Given the description of an element on the screen output the (x, y) to click on. 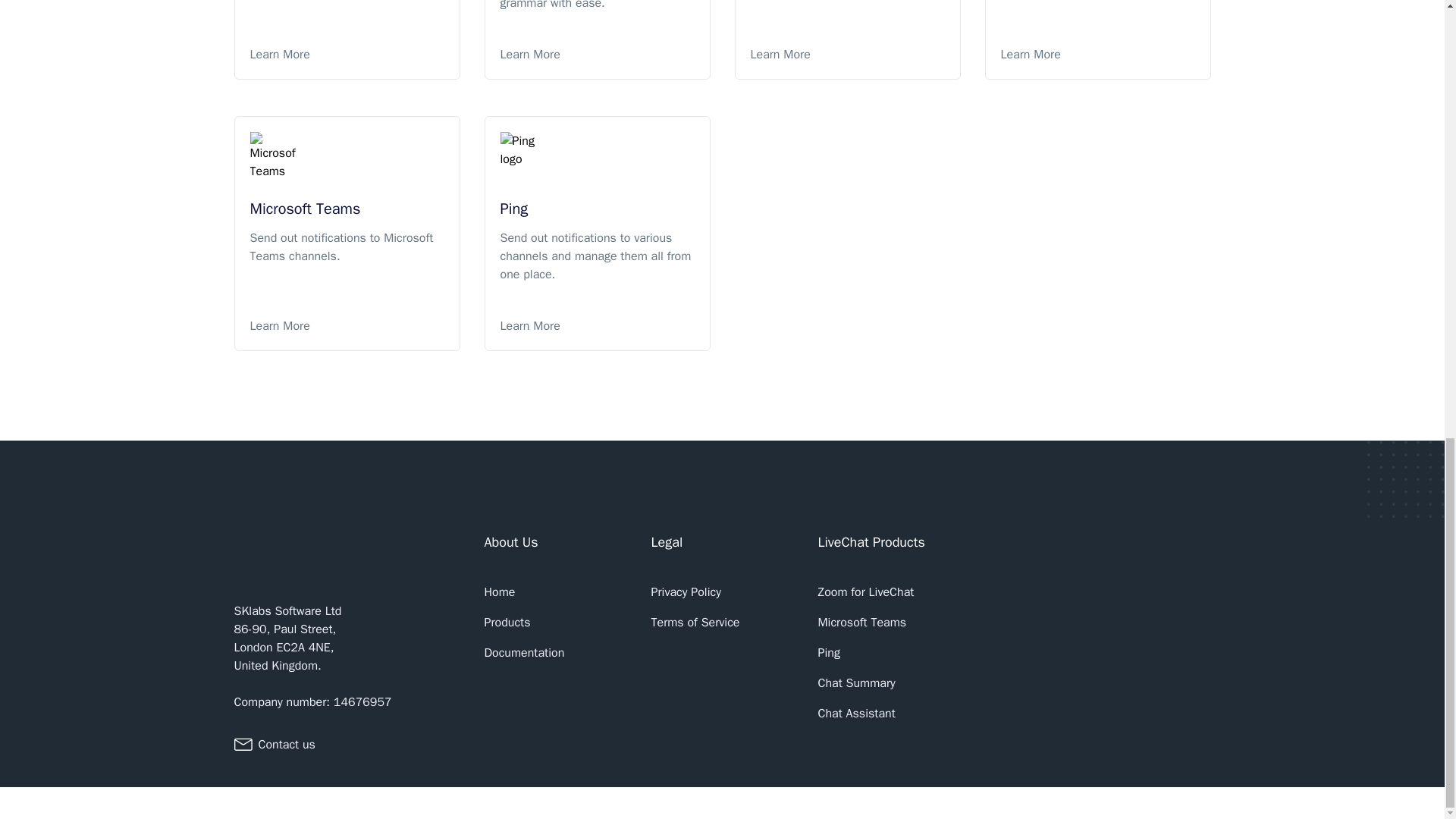
Privacy Policy (685, 591)
Products (506, 622)
Microsoft Teams (860, 622)
Learn More (1098, 54)
Learn More (597, 54)
Terms of Service (694, 622)
Learn More (347, 325)
Home (499, 591)
Learn More (597, 325)
Learn More (847, 54)
Contact us (285, 744)
Zoom for LiveChat (865, 591)
Ping (828, 652)
Chat Summary (855, 682)
Documentation (523, 652)
